Given the description of an element on the screen output the (x, y) to click on. 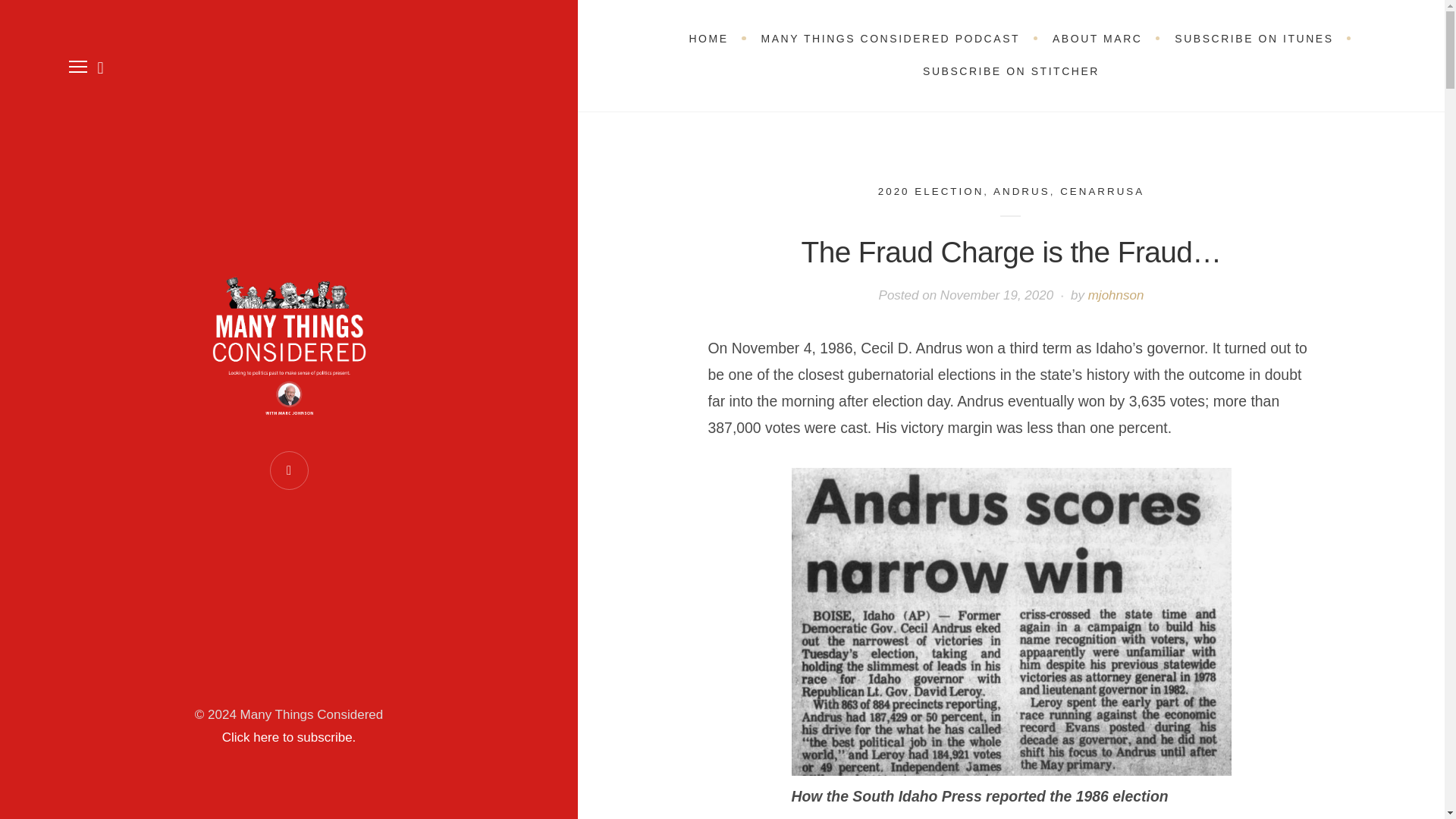
ABOUT MARC (1097, 38)
SUBSCRIBE ON ITUNES (1254, 38)
CENARRUSA (1101, 191)
ANDRUS (1020, 191)
HOME (708, 38)
MANY THINGS CONSIDERED PODCAST (889, 38)
SUBSCRIBE ON STITCHER (1010, 71)
Click here to subscribe. (289, 737)
2020 ELECTION (930, 191)
mjohnson (1115, 295)
